Given the description of an element on the screen output the (x, y) to click on. 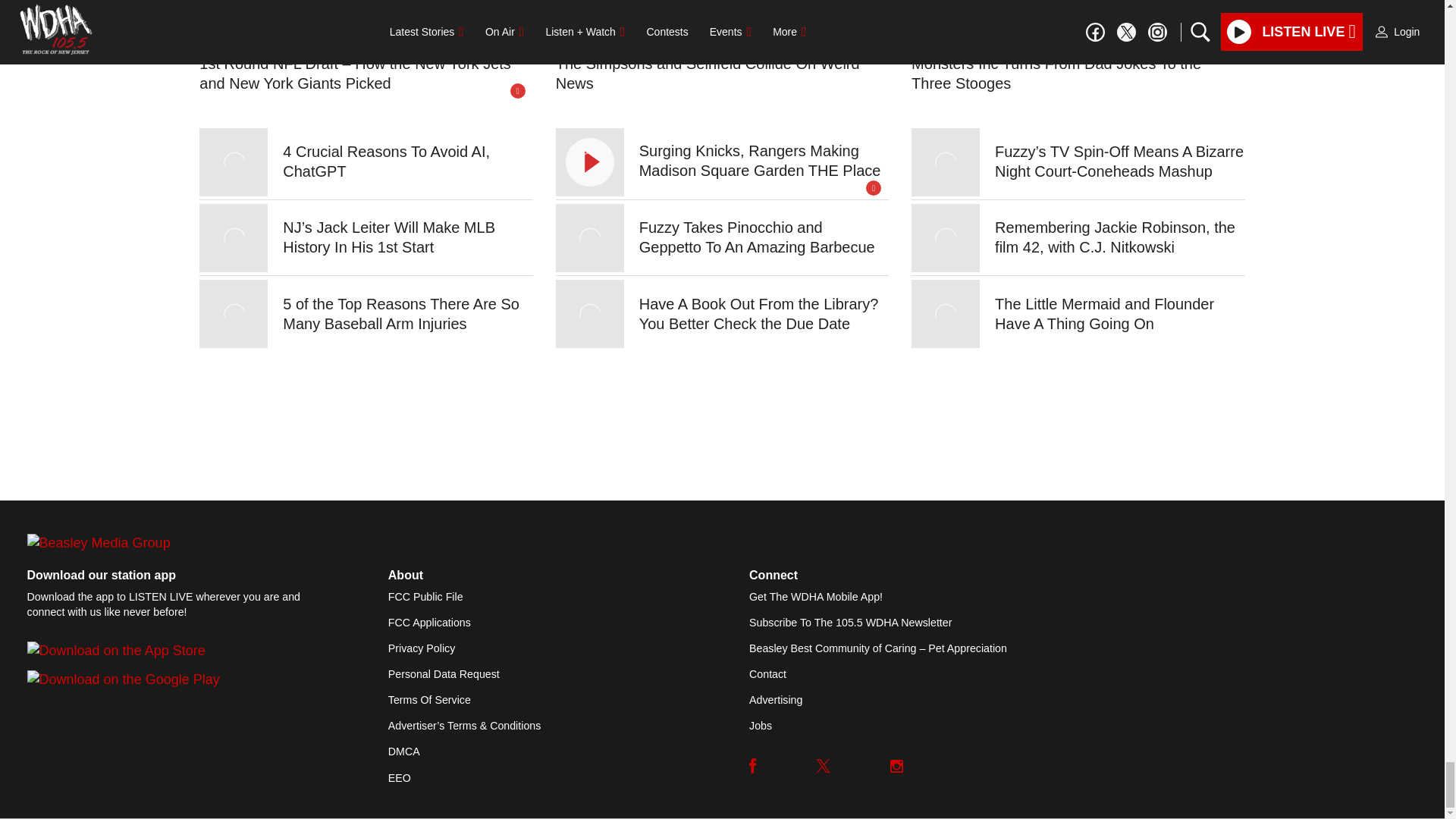
Instagram (895, 766)
Twitter (823, 766)
Facebook (753, 765)
